Given the description of an element on the screen output the (x, y) to click on. 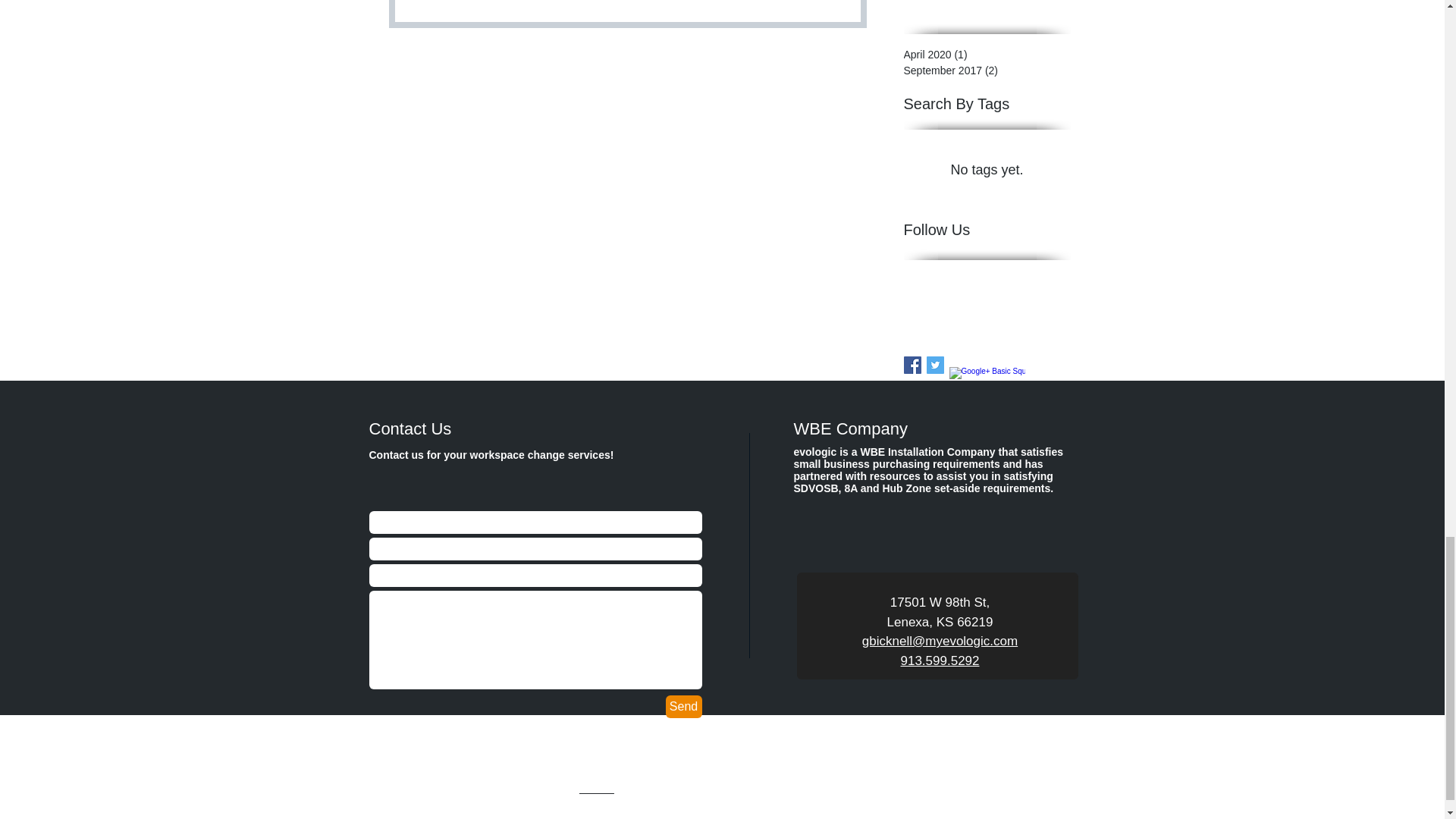
Send (683, 706)
Wix.com (596, 788)
913.599.5292 (940, 660)
